Given the description of an element on the screen output the (x, y) to click on. 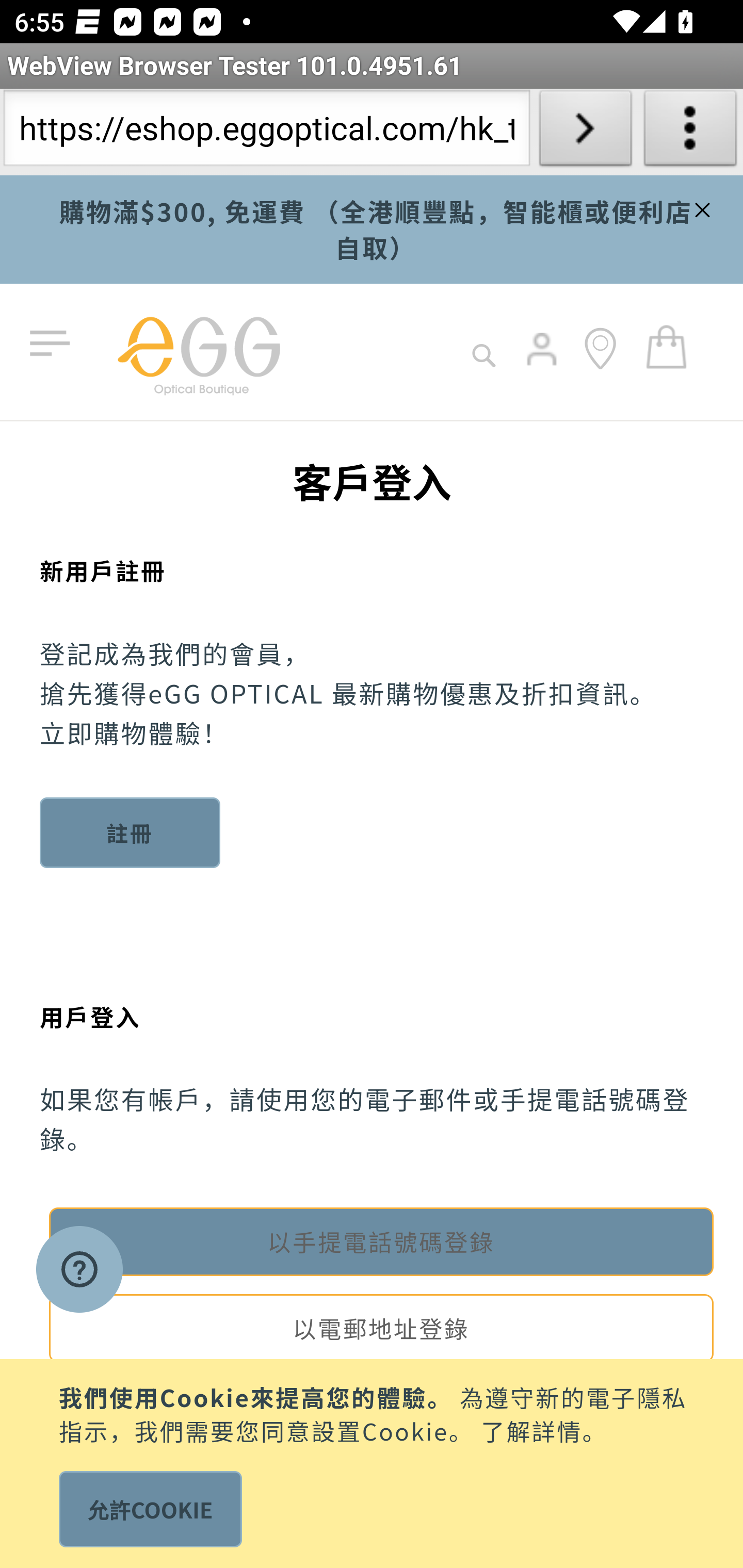
Load URL (585, 132)
About WebView (690, 132)
 (699, 206)
store logo eGG 網上商店 (198, 351)
切換導航 (54, 343)
我的購物車 (666, 345)
login (543, 362)
註冊 (130, 832)
Opens a widget where you can find more information (79, 1270)
了解詳情 (531, 1429)
允許COOKIE (149, 1509)
